Given the description of an element on the screen output the (x, y) to click on. 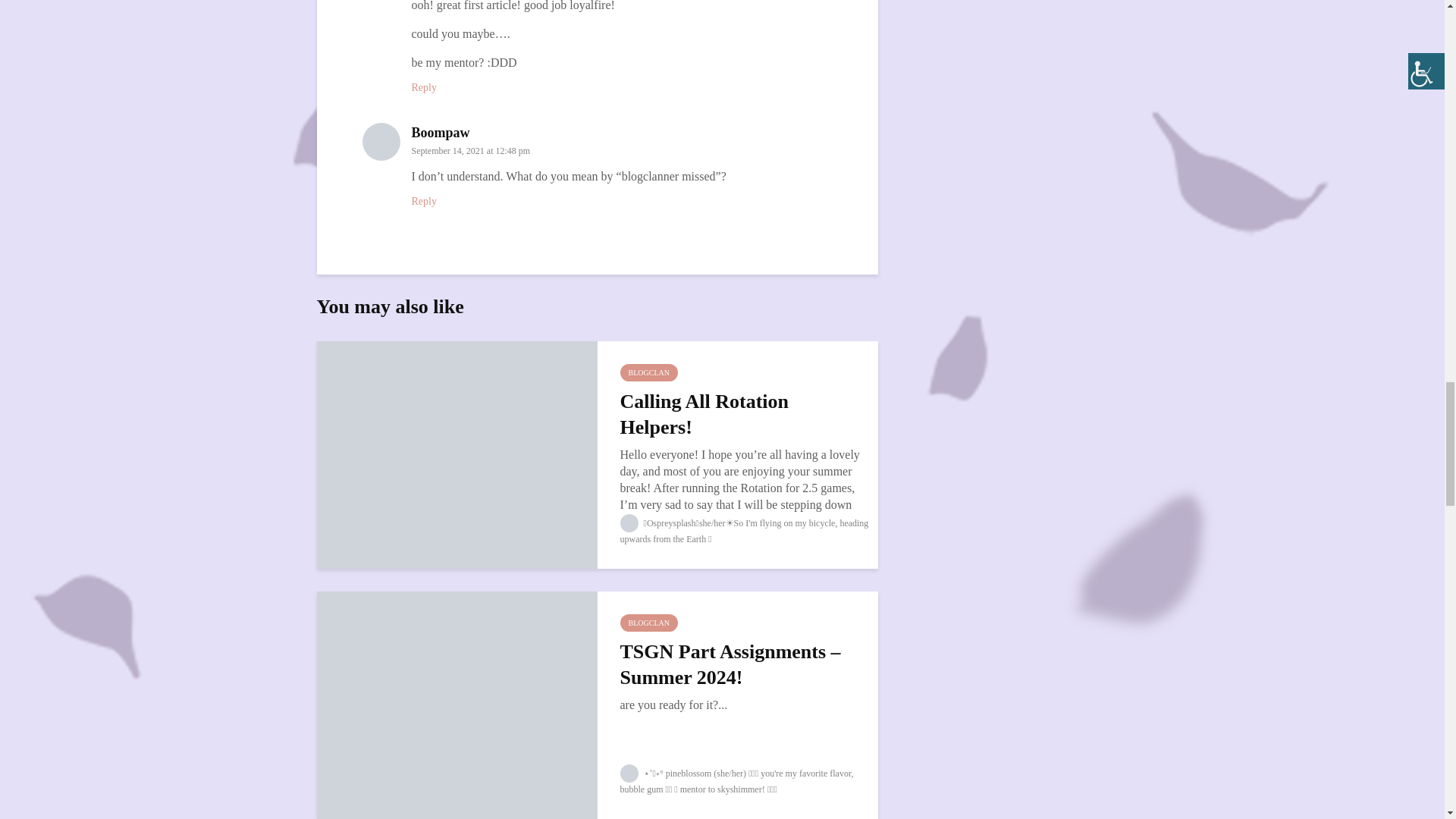
Calling All Rotation Helpers! (456, 453)
